Given the description of an element on the screen output the (x, y) to click on. 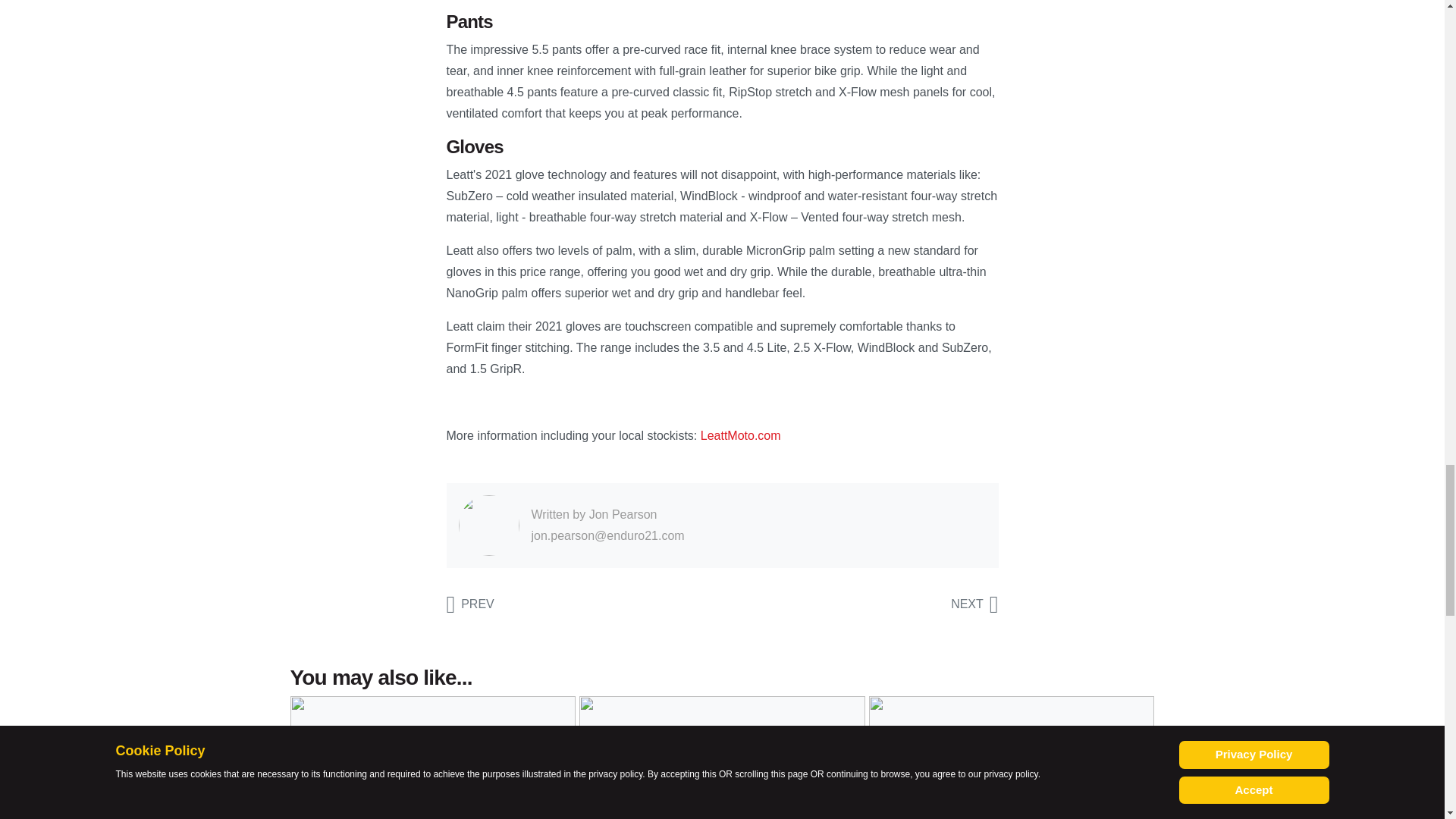
Tested: Enduro Engineering Trail Side Tool (973, 604)
Spotted: BRC Racing 500cc two-stroke KTM (469, 604)
